Given the description of an element on the screen output the (x, y) to click on. 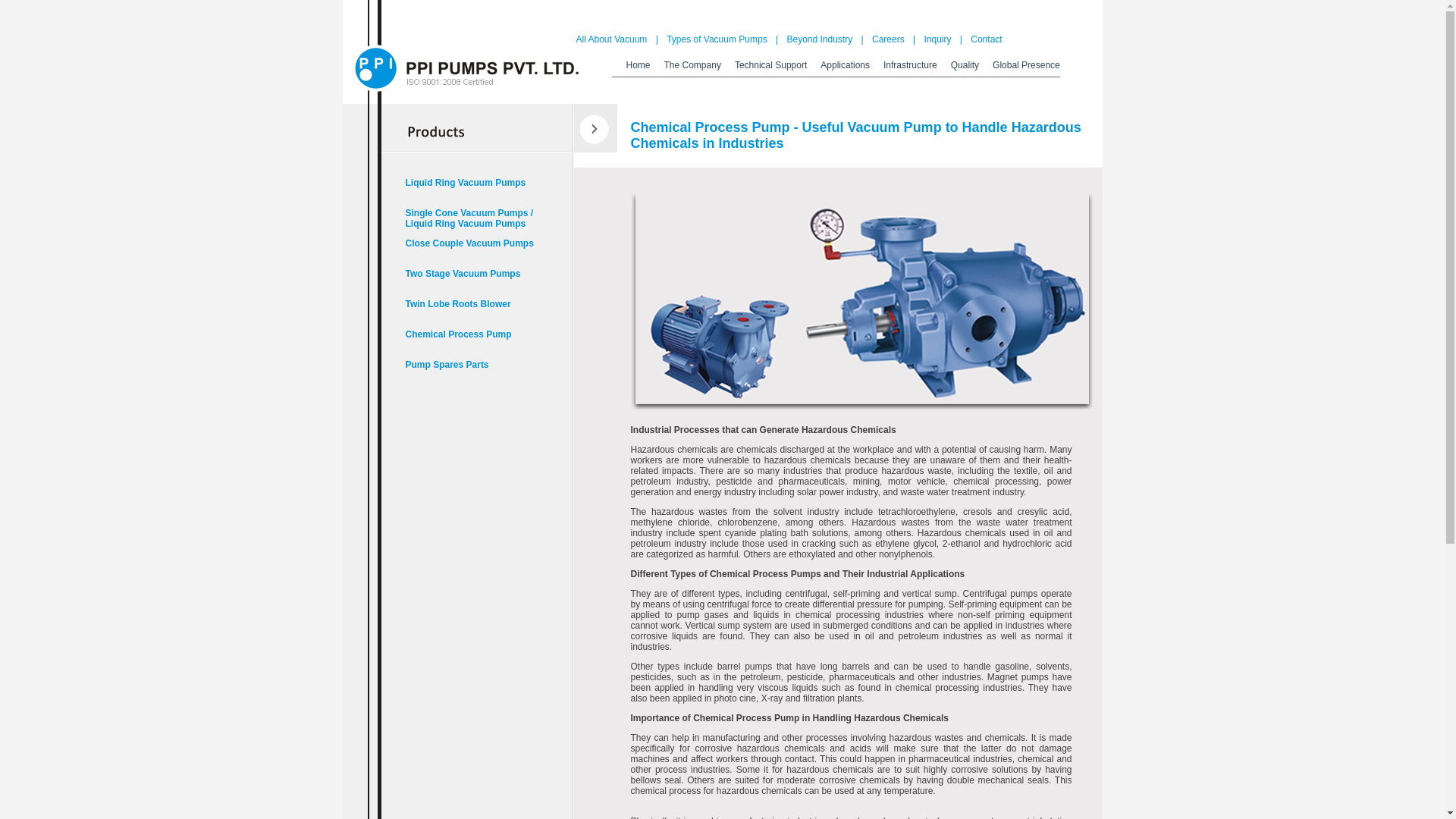
Inquiry (936, 39)
Two Stage Vacuum Pumps (469, 282)
Infrastructure of Vacuum Pumps Manufacturer. (909, 67)
Global Presence (1022, 67)
Two Stage Vacuum Pumps (469, 282)
Close Couple Vacuum Pumps (469, 251)
Contact (985, 39)
Chemical Process Pump (469, 342)
Twin Lobe Roots Blower (469, 312)
Career with Vacuum Pumps Supplier. (888, 39)
Careers (888, 39)
Quality (964, 67)
Pump Spares Parts (469, 373)
